Given the description of an element on the screen output the (x, y) to click on. 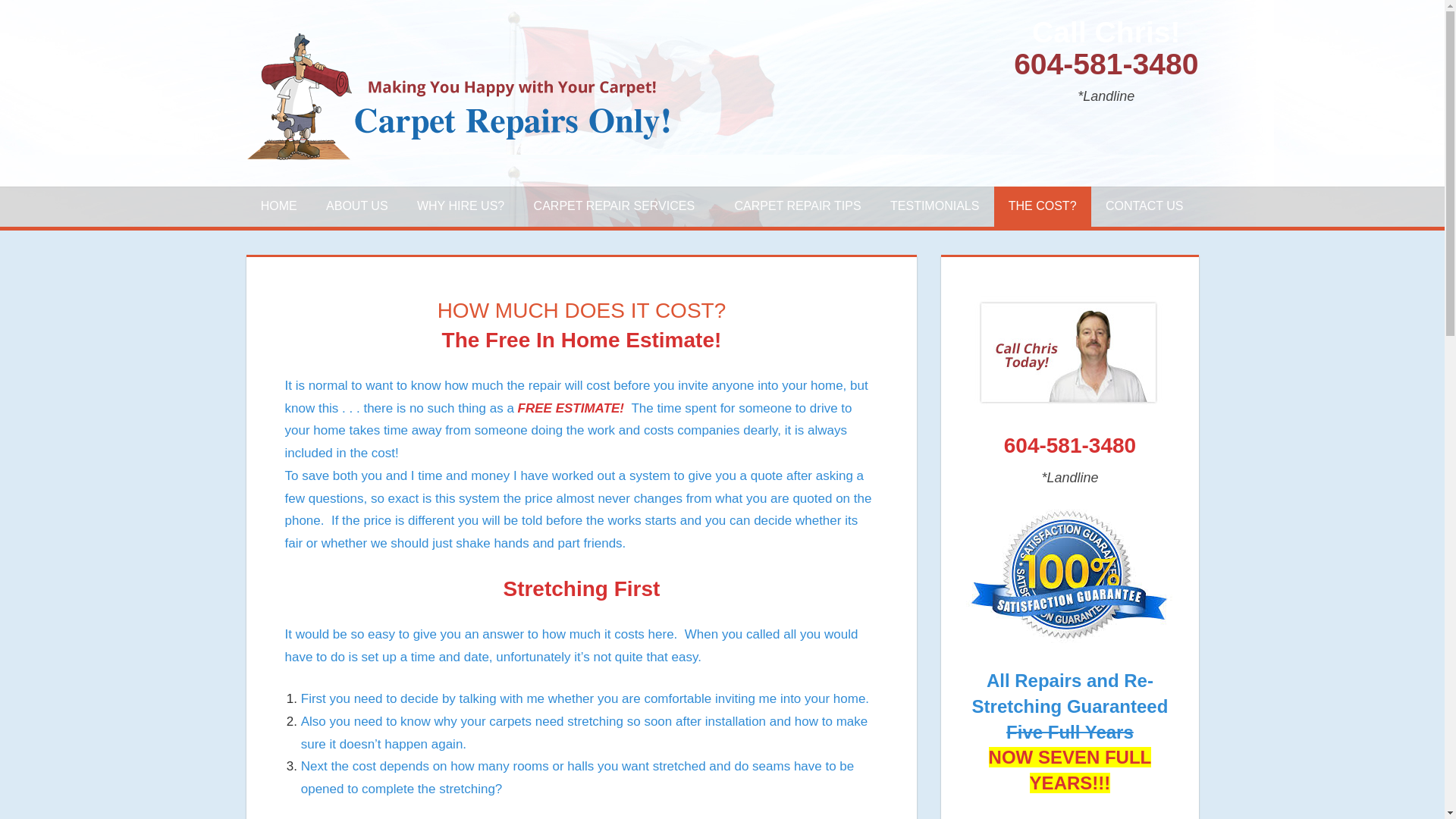
604-581-3480 (1105, 62)
Carpet Repairs in Vancouver (278, 206)
CARPET REPAIR SERVICES (618, 206)
Carpet Repair Services (618, 206)
WHY HIRE US? (461, 206)
HOME (278, 206)
How Much Does It Cost? (1042, 206)
Testimonials (935, 206)
ABOUT US (357, 206)
CARPET REPAIR TIPS (797, 206)
TESTIMONIALS (935, 206)
CONTACT US (1144, 206)
About Us (357, 206)
THE COST? (1042, 206)
Why Hire Us? (461, 206)
